Given the description of an element on the screen output the (x, y) to click on. 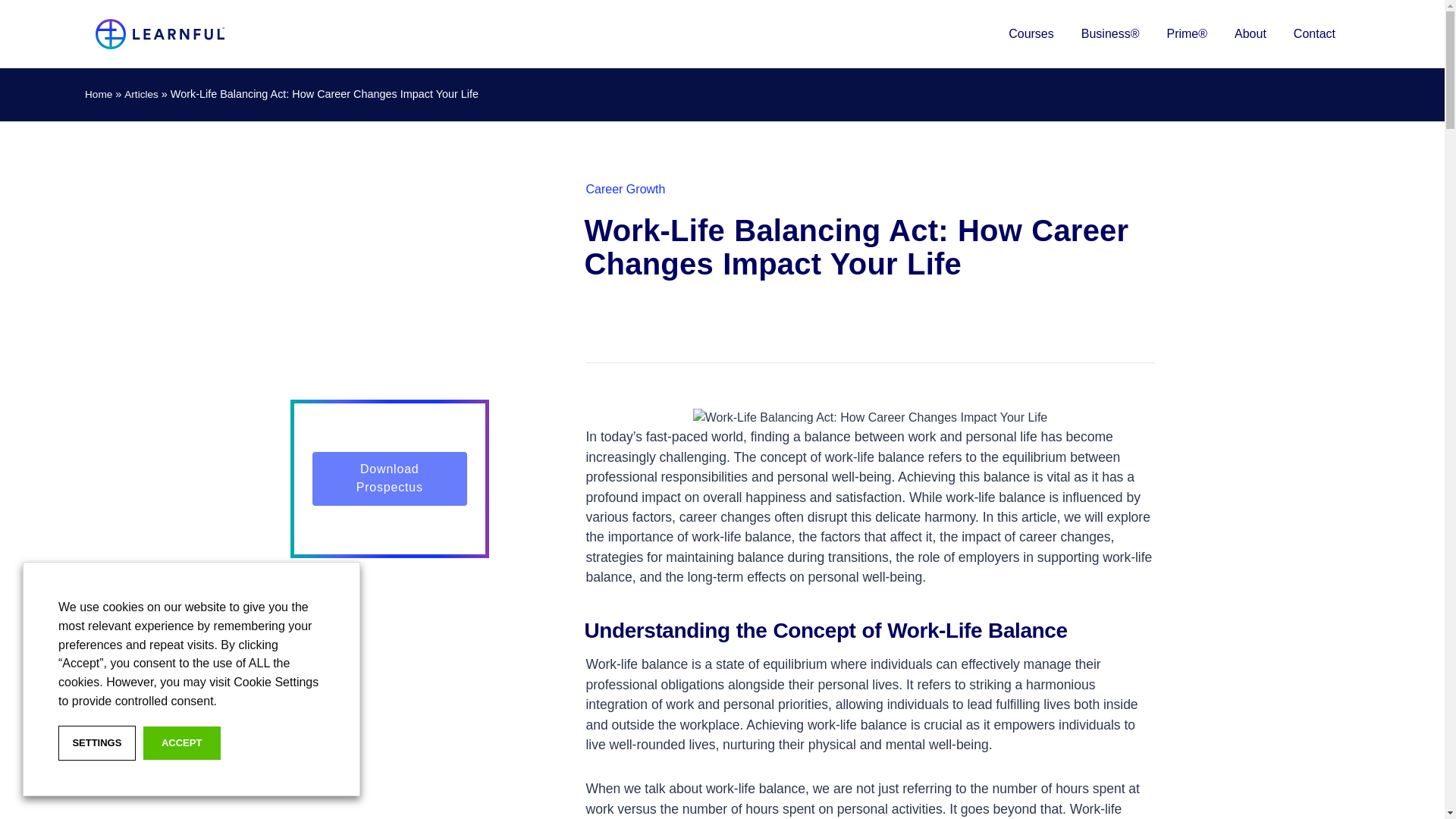
Home (98, 93)
Articles (140, 93)
Courses (1031, 33)
Share on LinkedIn (637, 327)
Share on Twitter (678, 327)
Download Prospectus (390, 479)
Contact (1313, 33)
Work-Life Balancing Act: How Career Changes Impact Your Life (870, 417)
Career Growth (625, 188)
Share on Facebook (596, 327)
About (1250, 33)
